Given the description of an element on the screen output the (x, y) to click on. 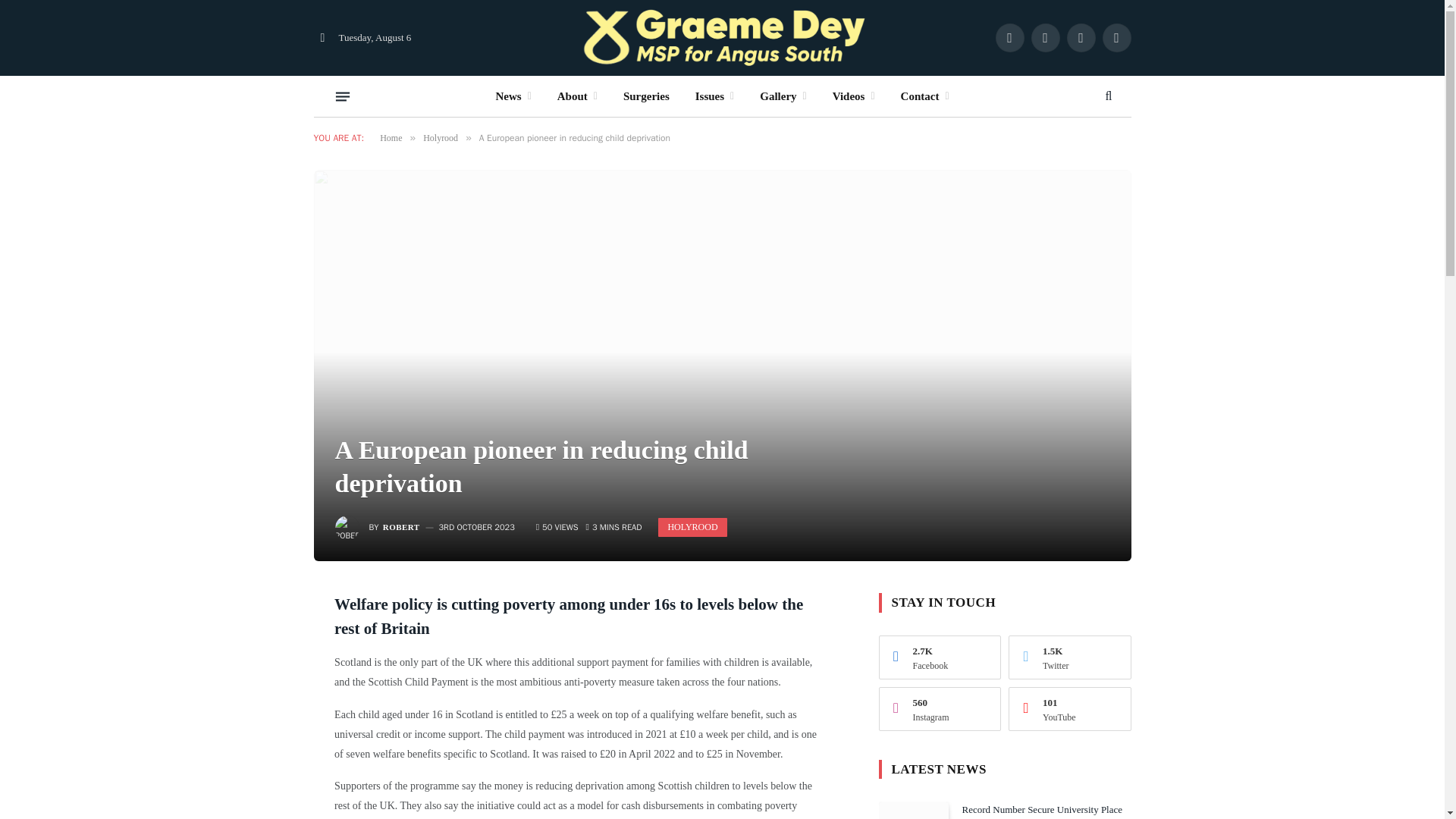
Graeme Dey (721, 38)
Switch to Dark Design - easier on eyes. (322, 37)
